Given the description of an element on the screen output the (x, y) to click on. 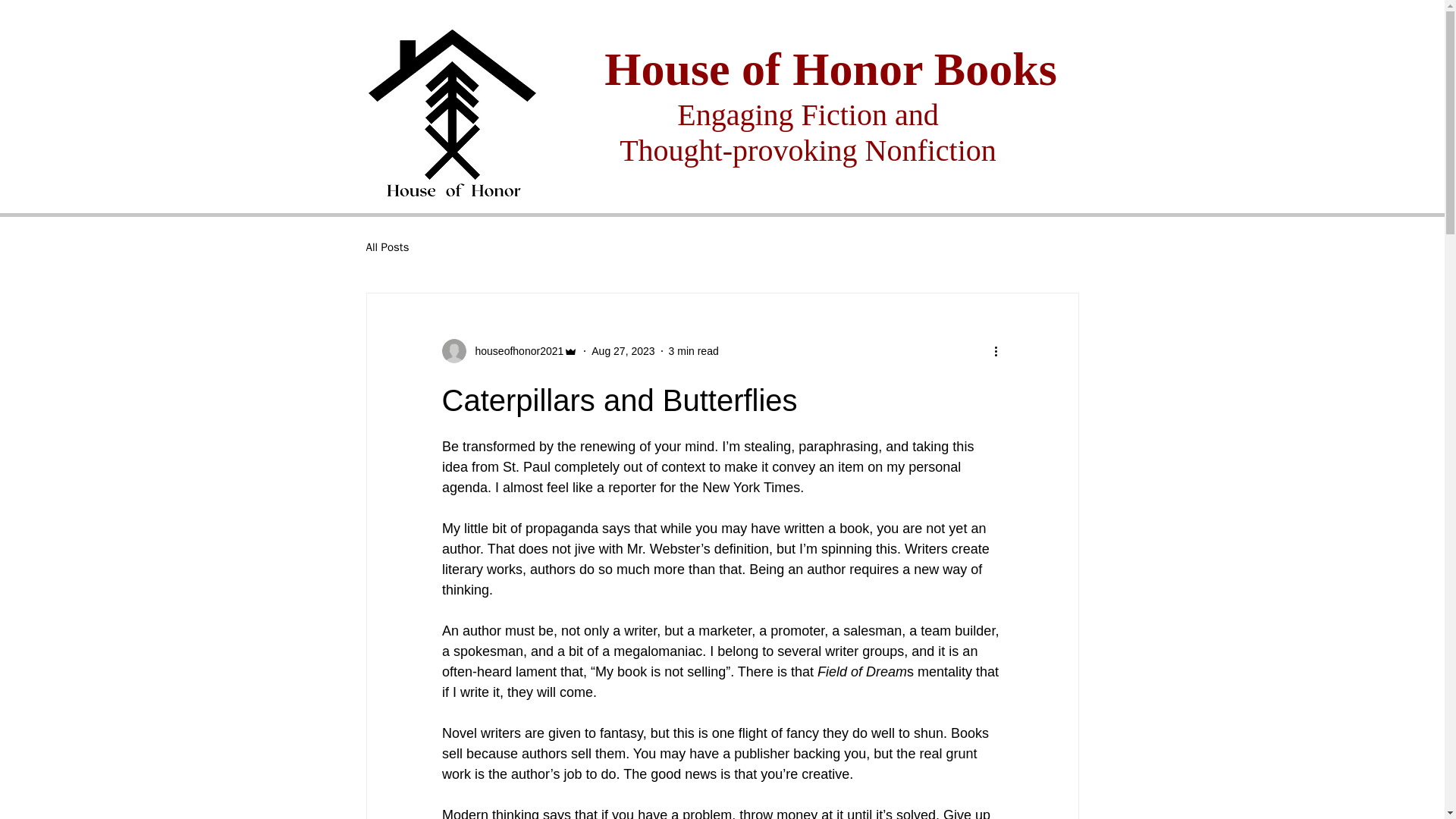
houseofhonor2021 (514, 350)
3 min read (693, 349)
Aug 27, 2023 (622, 349)
All Posts (387, 246)
houseofhonor2021 (509, 351)
